Given the description of an element on the screen output the (x, y) to click on. 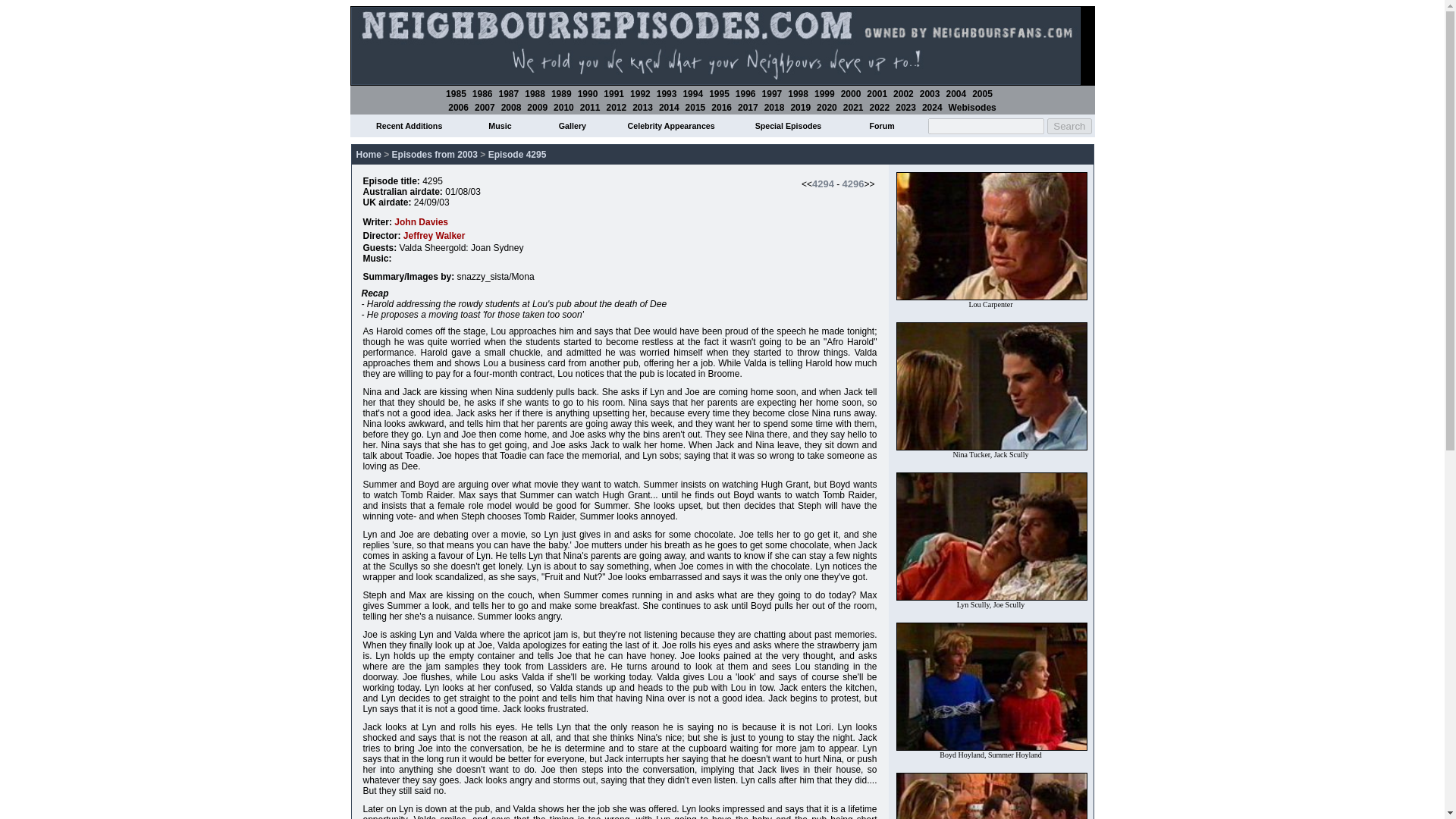
2022 (879, 107)
2005 (982, 93)
2007 (484, 107)
2011 (589, 107)
1989 (561, 93)
2014 (669, 107)
2003 (930, 93)
2017 (748, 107)
1996 (745, 93)
2006 (458, 107)
